Given the description of an element on the screen output the (x, y) to click on. 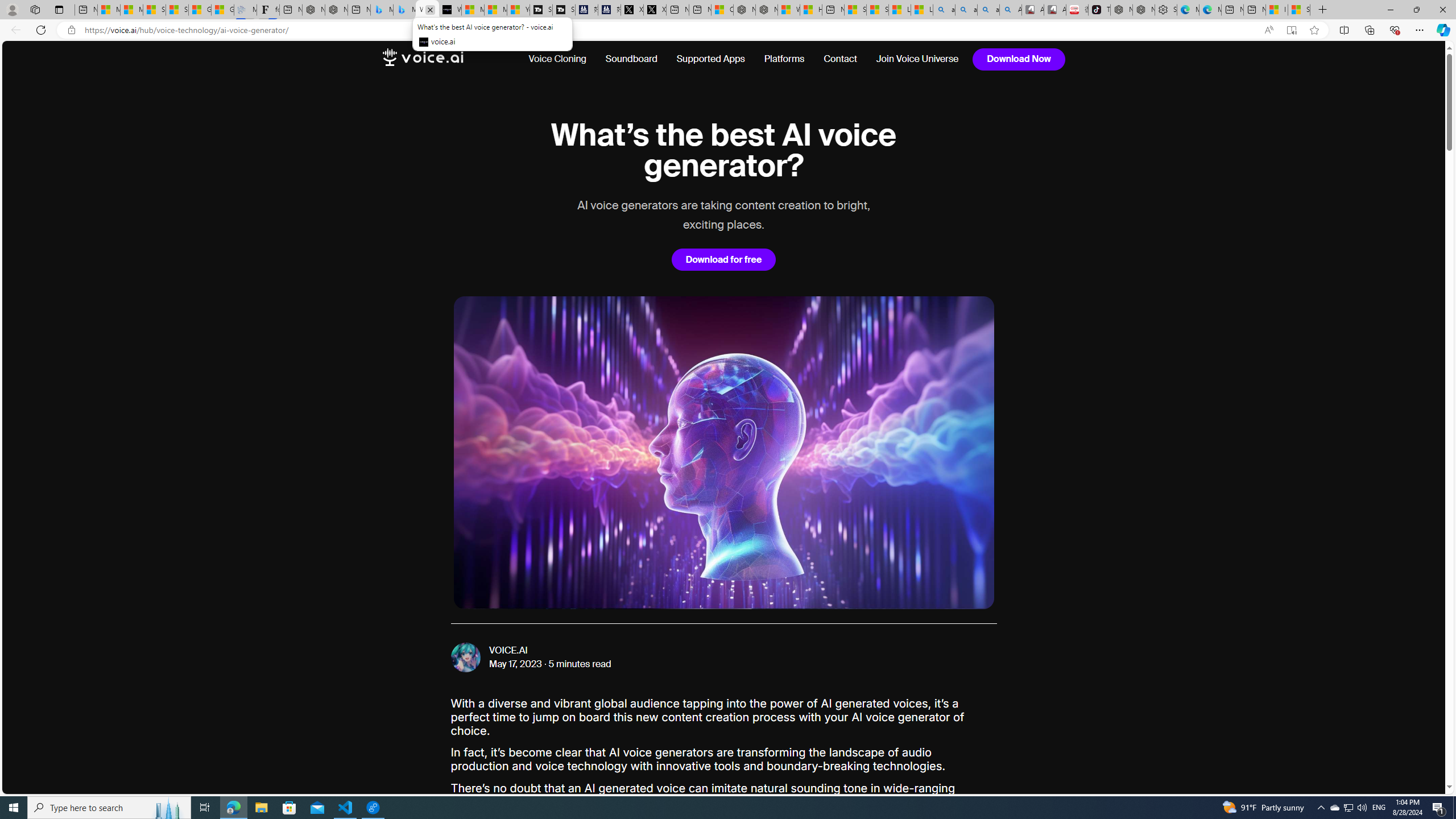
Supported Apps (710, 59)
TikTok (1099, 9)
Huge shark washes ashore at New York City beach | Watch (810, 9)
Join Voice Universe (917, 59)
Download Now (1018, 58)
Microsoft Bing Travel - Shangri-La Hotel Bangkok (404, 9)
Download for free (723, 259)
